Given the description of an element on the screen output the (x, y) to click on. 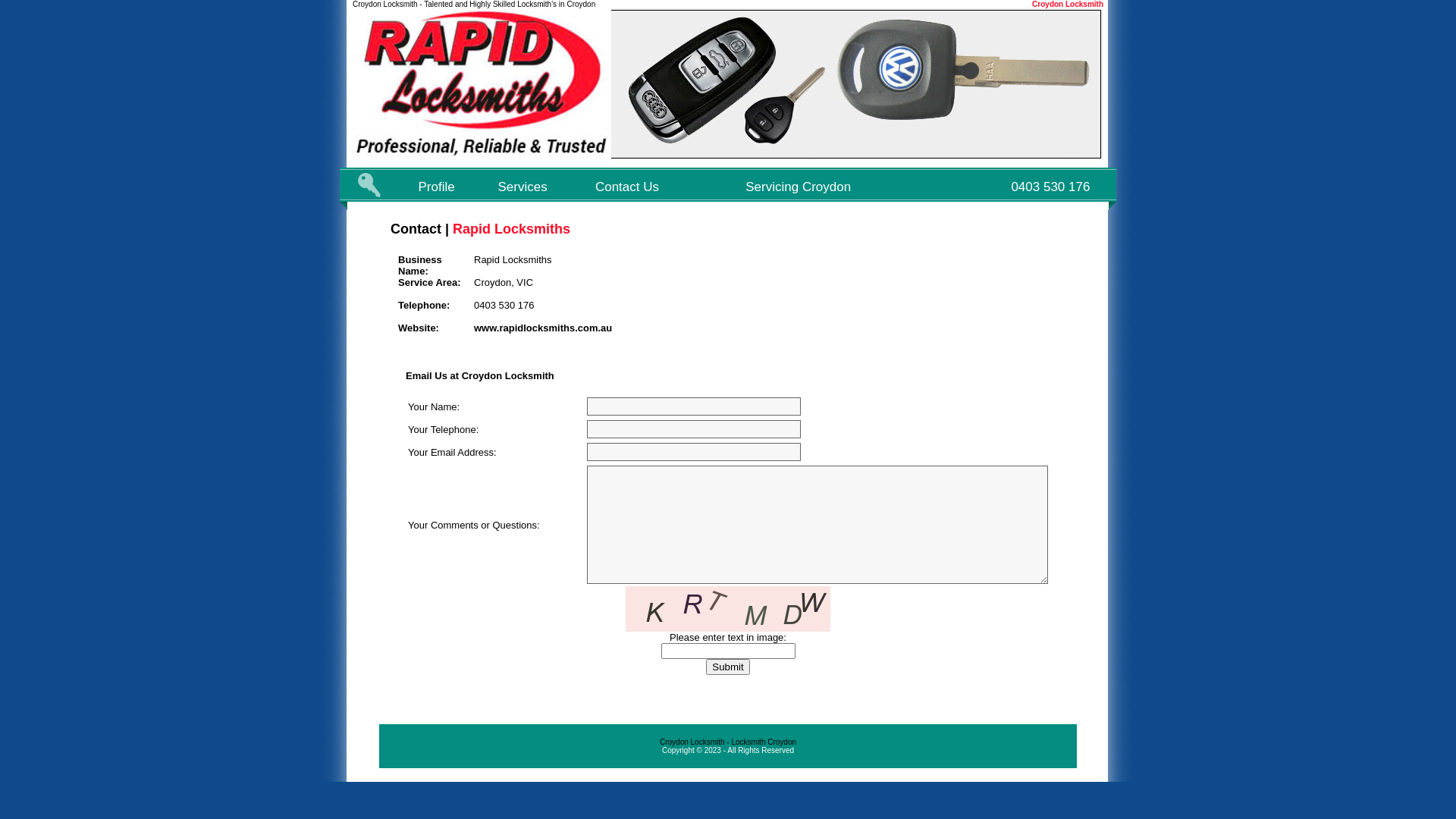
Contact Us Element type: text (626, 185)
Profile Element type: text (436, 185)
www.rapidlocksmiths.com.au Element type: text (542, 326)
Services Element type: text (522, 185)
Submit Element type: text (727, 666)
Croydon Locksmith Element type: text (1067, 4)
